Given the description of an element on the screen output the (x, y) to click on. 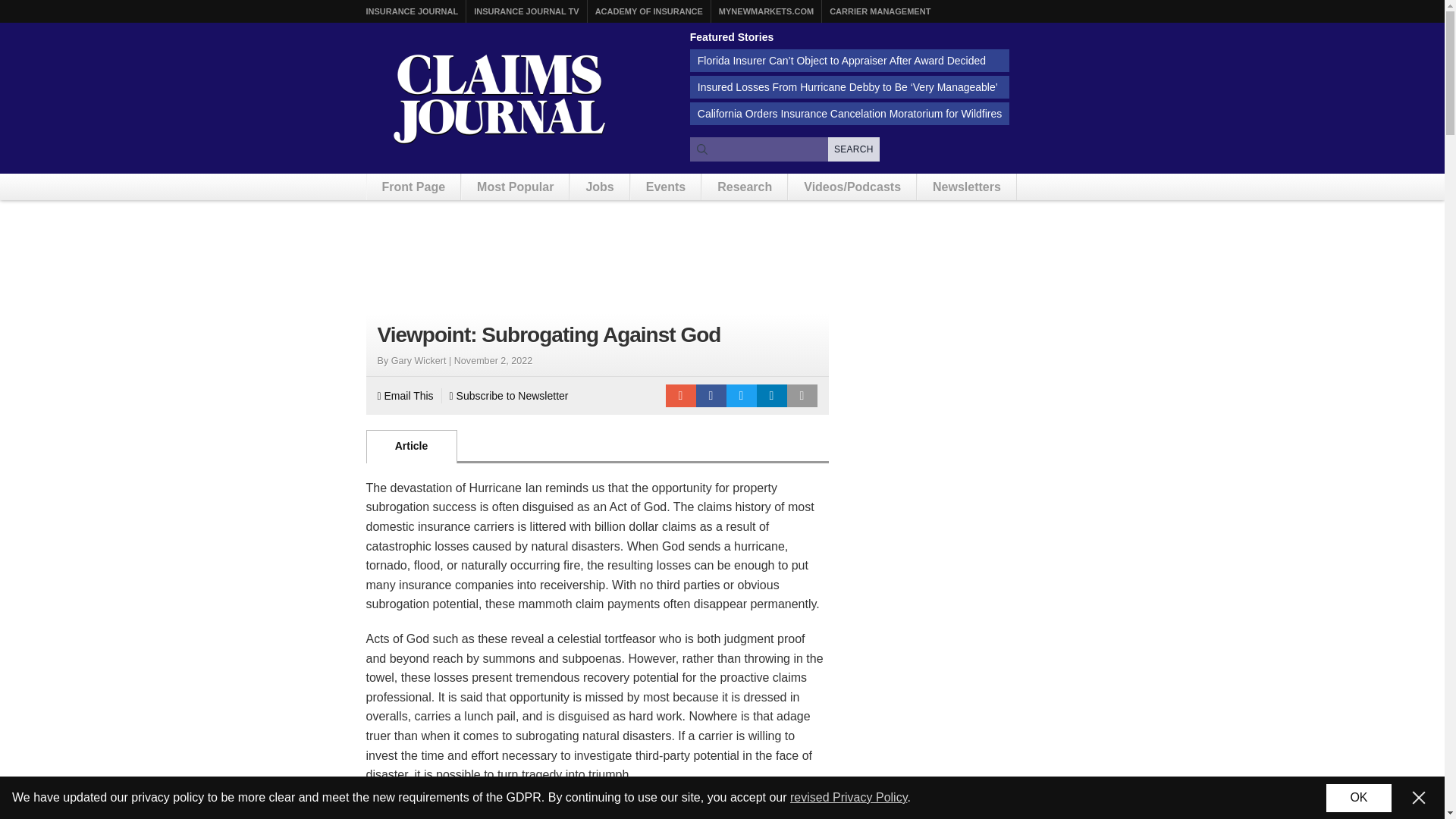
Print Article (801, 395)
LinkedIn (772, 395)
Email This (405, 395)
CARRIER MANAGEMENT (879, 11)
MYNEWMARKETS.COM (766, 11)
Tweet (741, 395)
Facebook (710, 395)
Most Popular (515, 186)
Events (665, 186)
Post to Facebook. (710, 395)
